Given the description of an element on the screen output the (x, y) to click on. 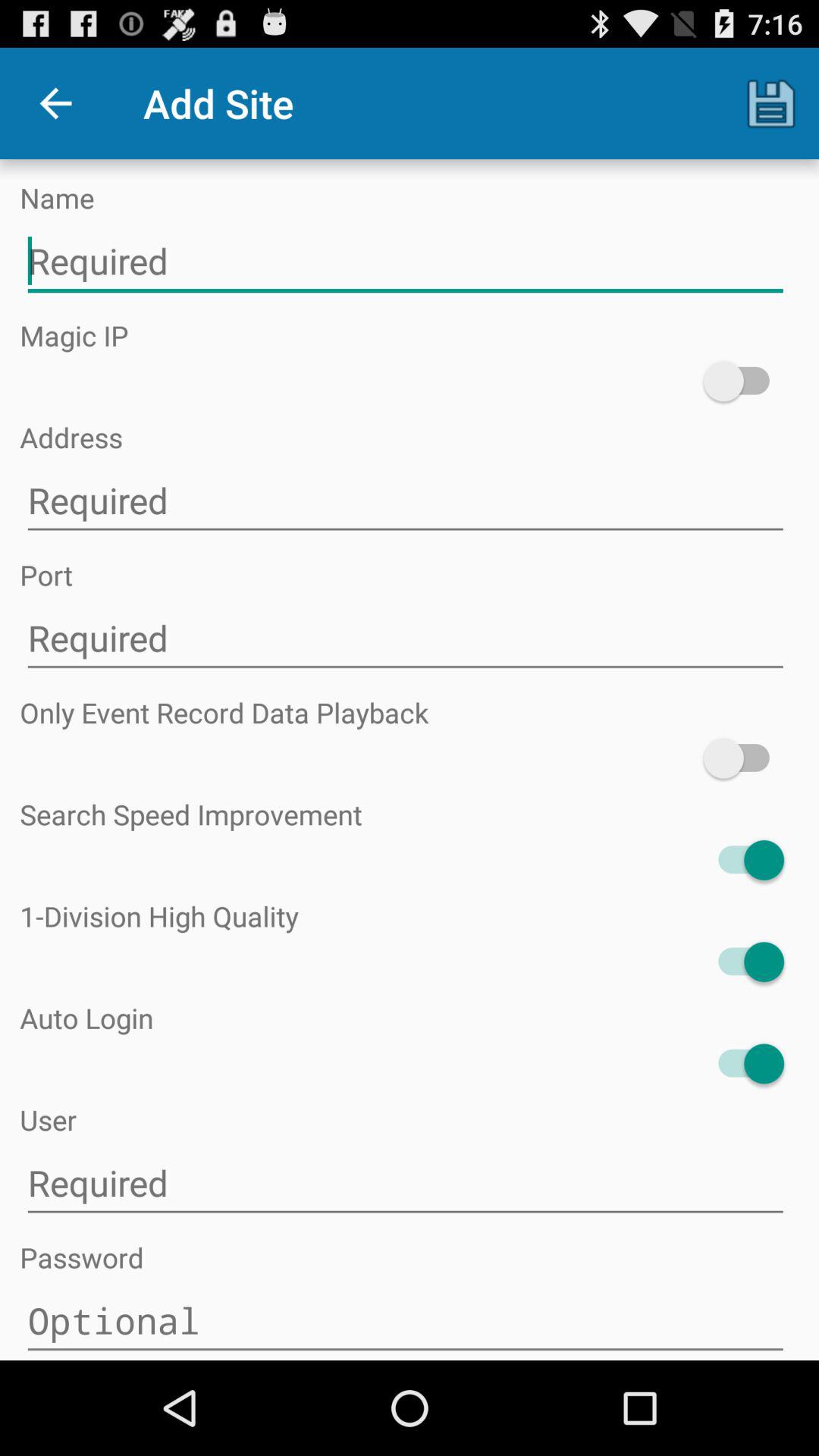
toggle speed improvement on and off (743, 860)
